Given the description of an element on the screen output the (x, y) to click on. 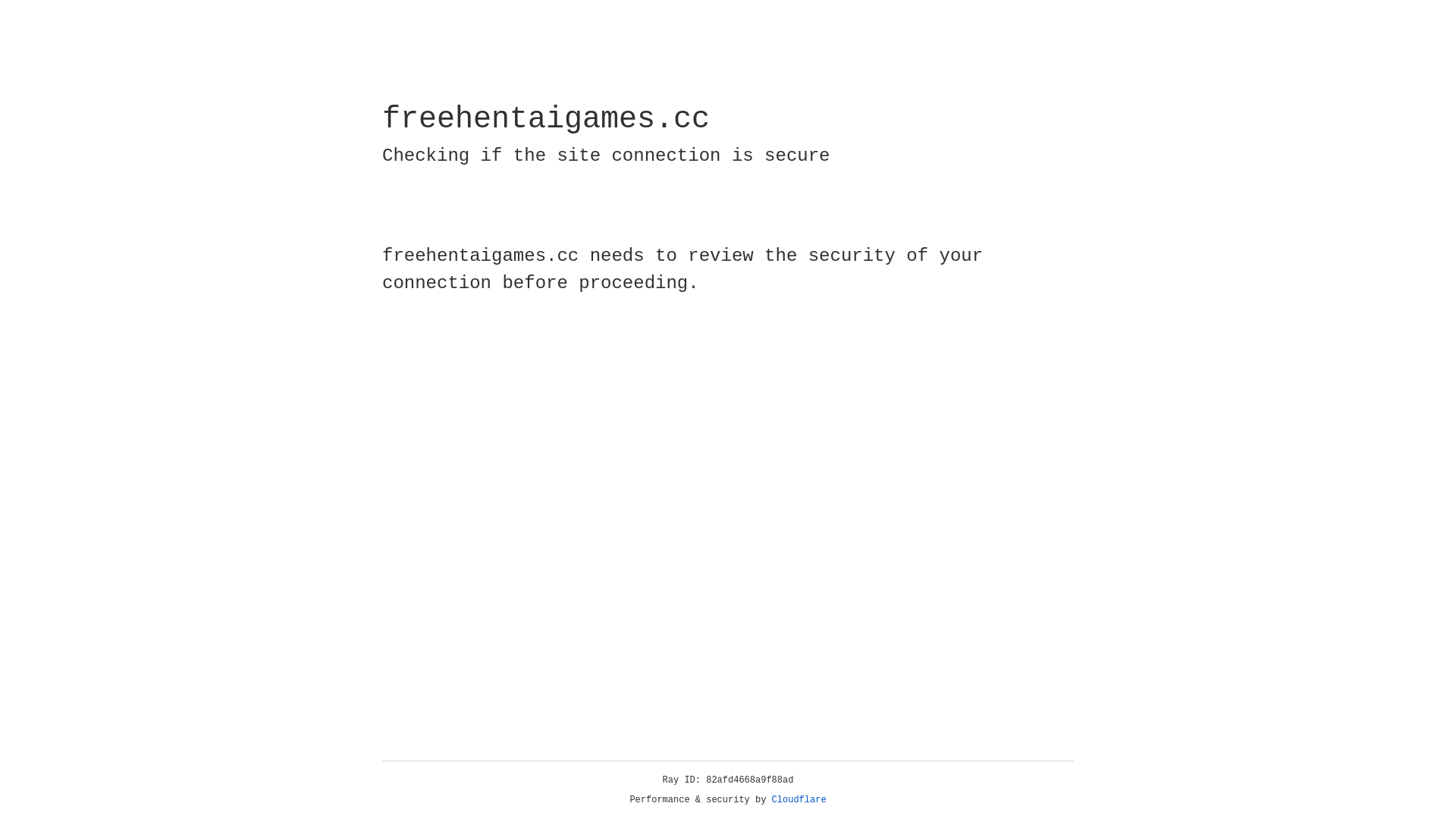
Cloudflare Element type: text (798, 799)
